Given the description of an element on the screen output the (x, y) to click on. 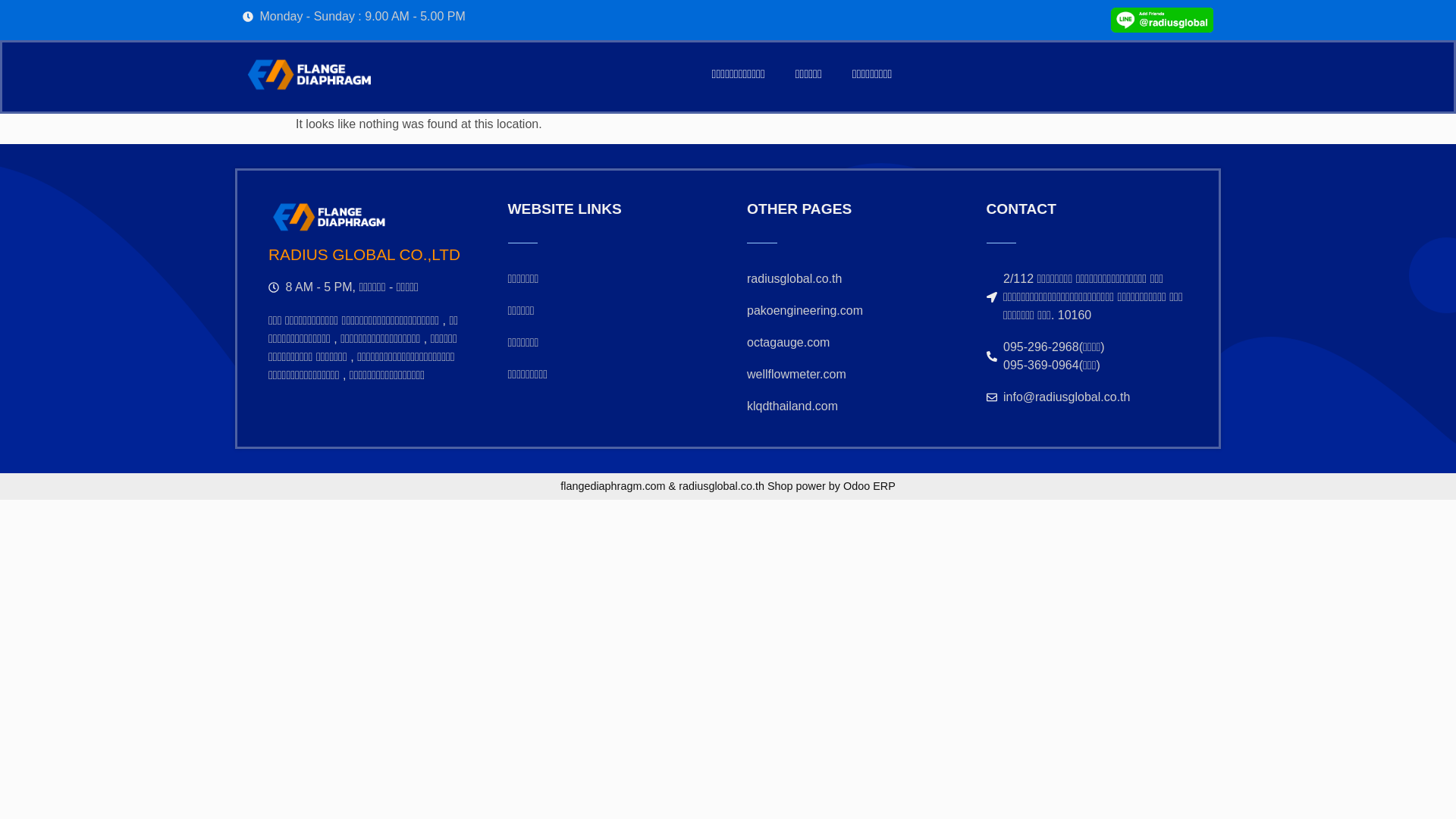
pakoengineering.com (847, 311)
wellflowmeter.com (847, 374)
octagauge.com (847, 342)
radiusglobal.co.th (847, 279)
klqdthailand.com (847, 406)
